Given the description of an element on the screen output the (x, y) to click on. 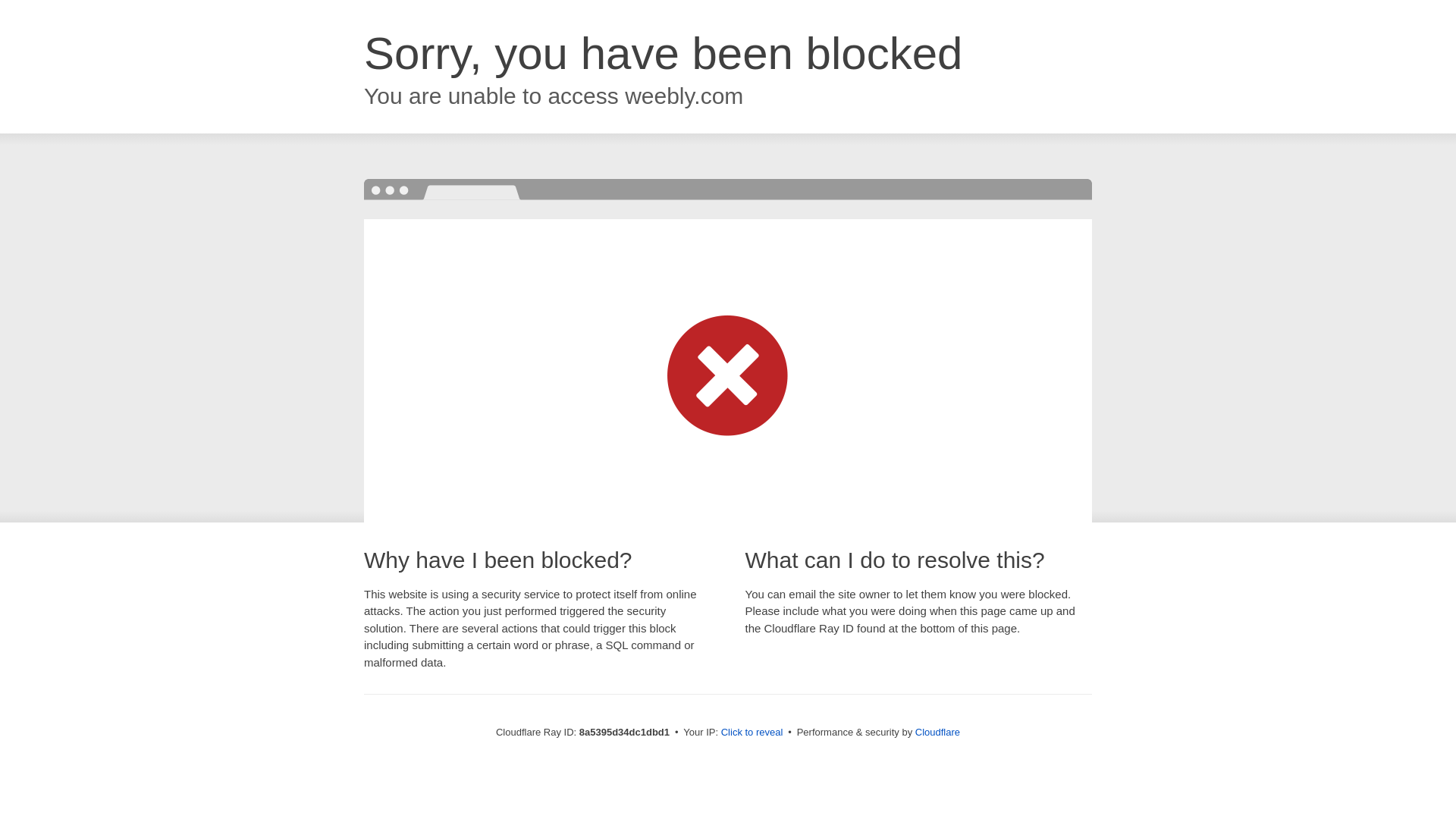
Cloudflare (937, 731)
Click to reveal (751, 732)
